Given the description of an element on the screen output the (x, y) to click on. 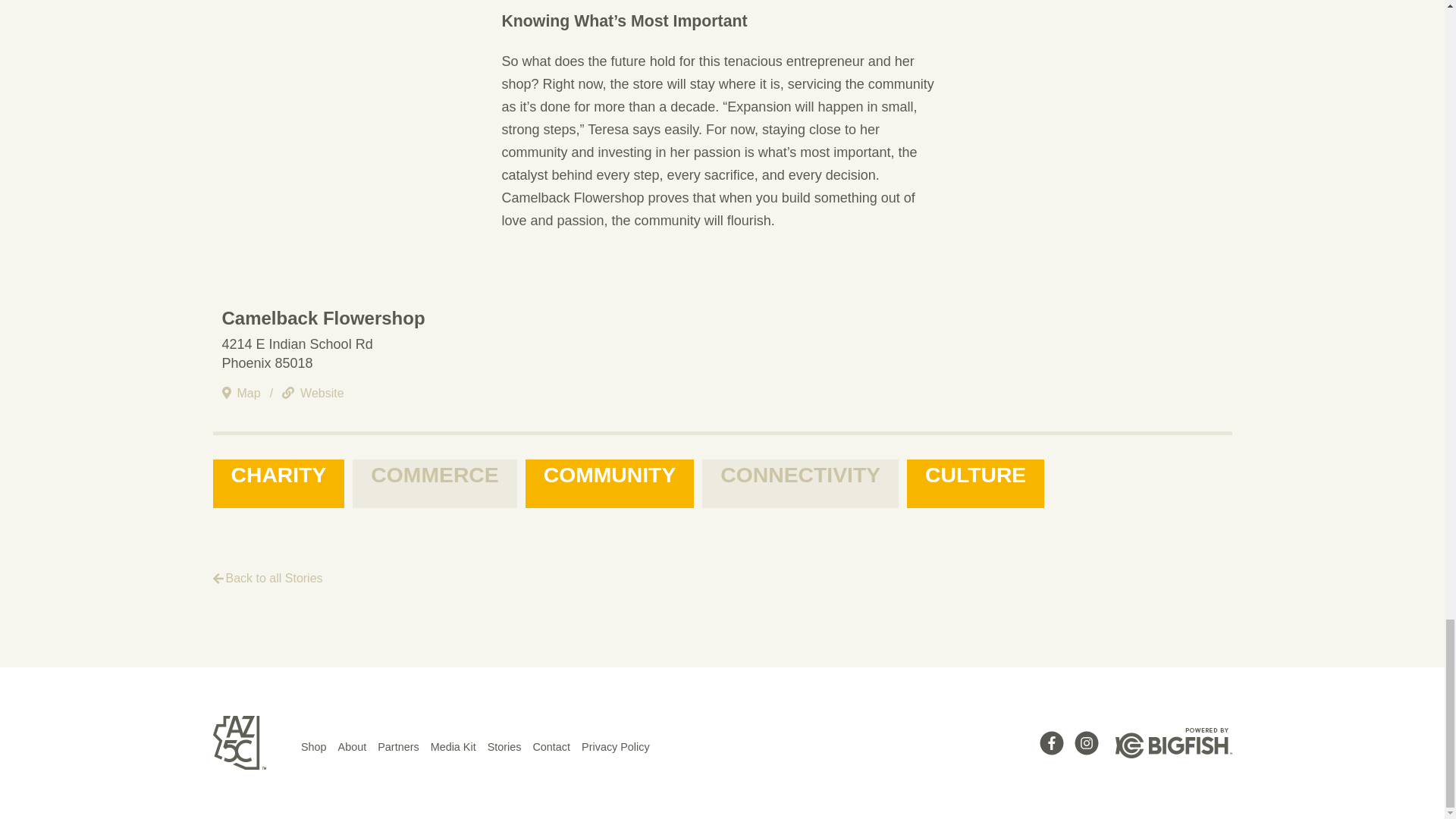
COMMERCE (434, 483)
CULTURE (975, 483)
Partners (398, 746)
Media Kit (453, 746)
CHARITY (277, 483)
CONNECTIVITY (799, 483)
COMMUNITY (609, 483)
Download the AZ5C Media Kit (453, 746)
Privacy Policy (614, 746)
About (351, 746)
Map (245, 393)
Visit Bigfish Creative Group (1173, 746)
Website (313, 393)
Shop (313, 746)
Contact (551, 746)
